Given the description of an element on the screen output the (x, y) to click on. 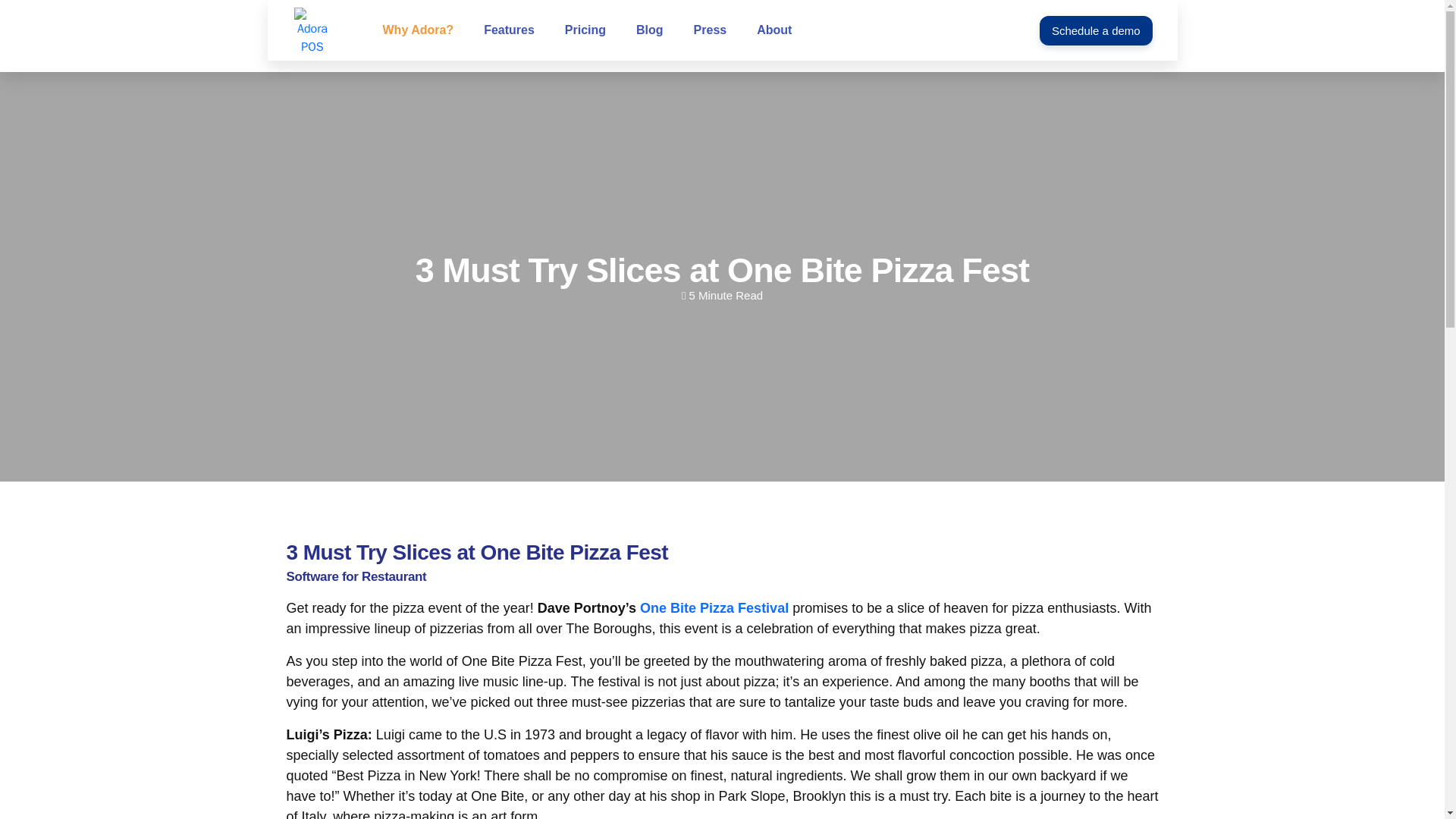
About (773, 30)
Why Adora? (417, 30)
Schedule a demo (1096, 30)
Features (509, 30)
Blog (649, 30)
Pricing (585, 30)
Press (710, 30)
One Bite Pizza Festival (714, 607)
